Given the description of an element on the screen output the (x, y) to click on. 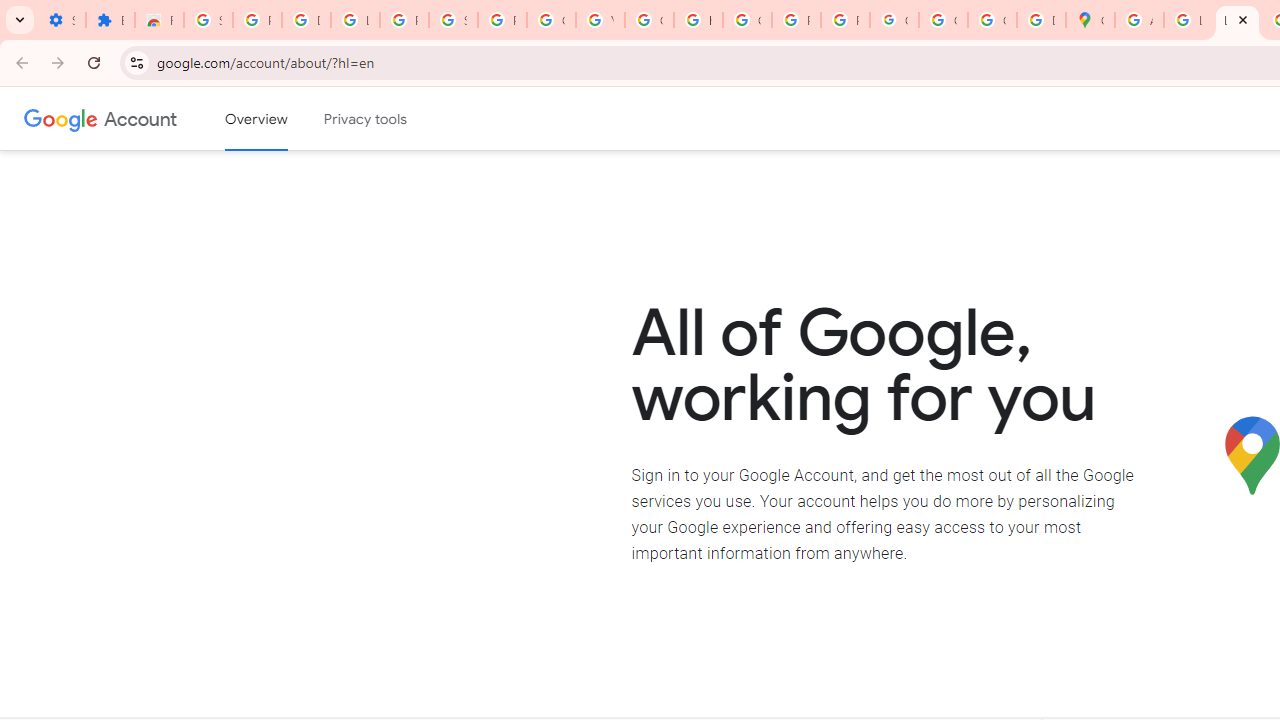
Privacy tools (365, 119)
Skip to Content (285, 115)
Sign in - Google Accounts (208, 20)
YouTube (600, 20)
